Given the description of an element on the screen output the (x, y) to click on. 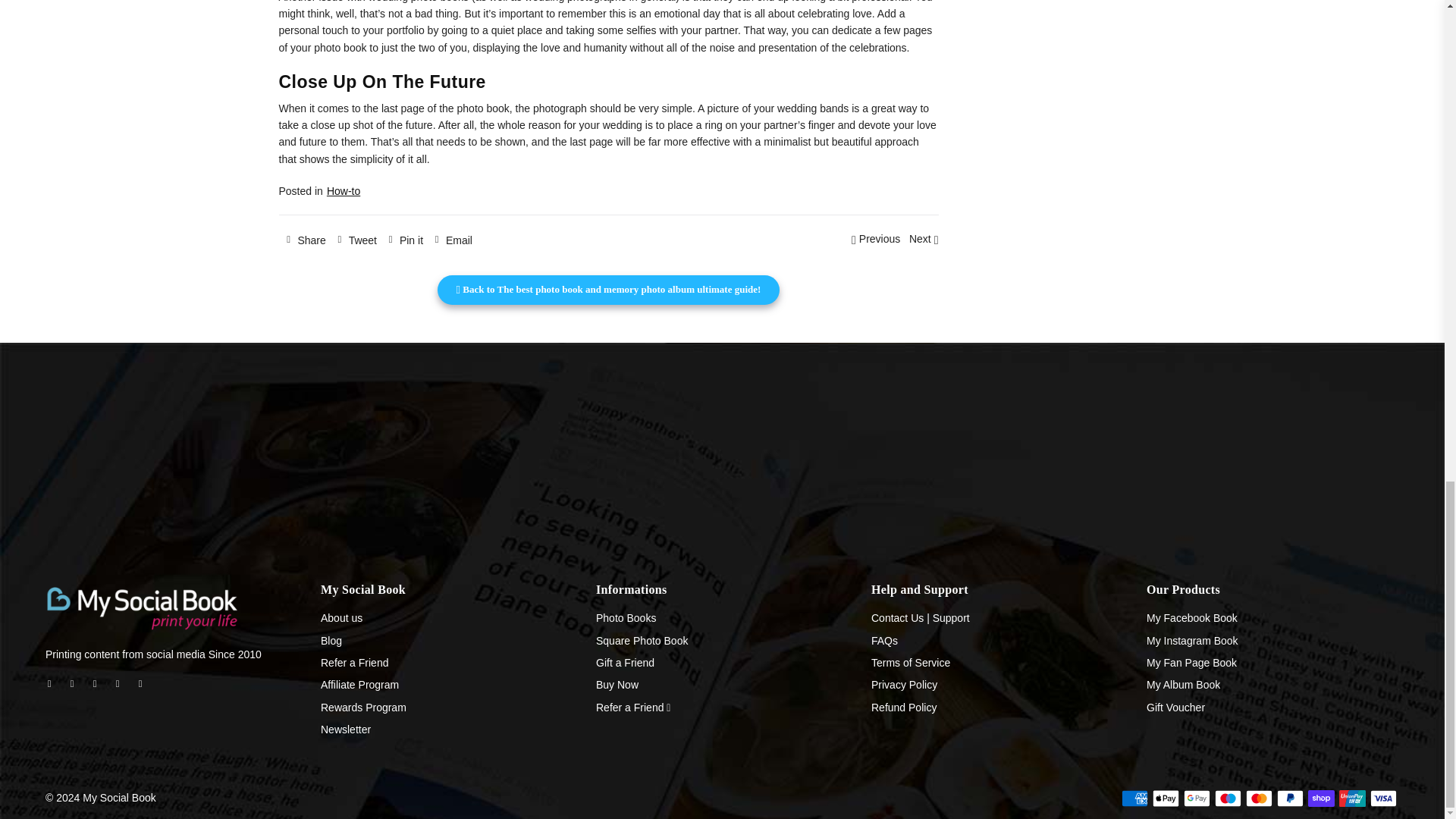
Union Pay (1352, 798)
Google Pay (1196, 798)
Share on Facebook (304, 239)
Pin on Pinterest (403, 239)
Shop Pay (1321, 798)
Apple Pay (1166, 798)
Maestro (1227, 798)
American Express (1134, 798)
Visa (1383, 798)
Share by Email (451, 239)
